Given the description of an element on the screen output the (x, y) to click on. 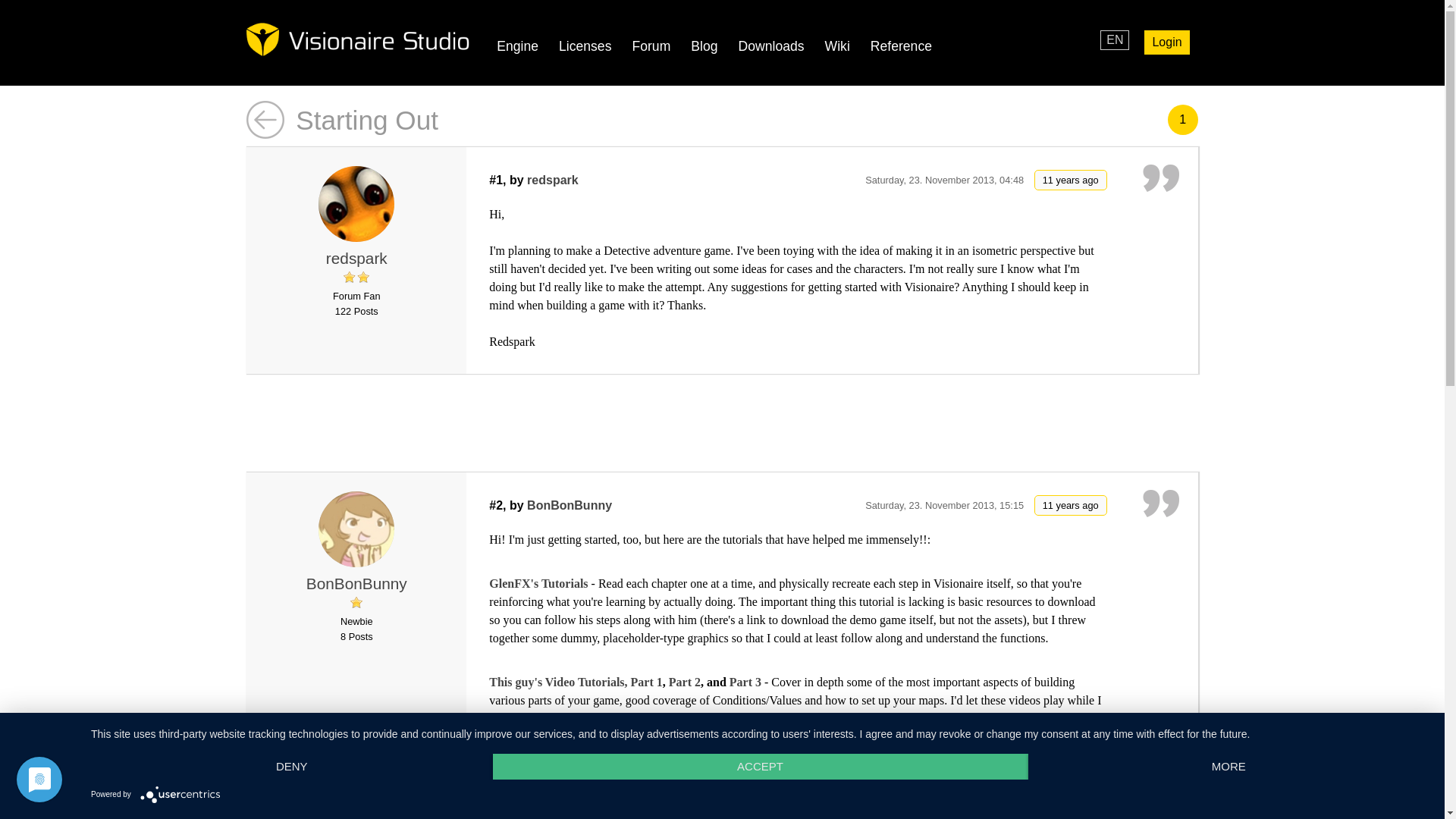
redspark (356, 257)
Login (1166, 42)
redspark (356, 257)
Wiki (837, 46)
Part 2 (684, 682)
The old one (555, 762)
Reference (900, 46)
Login (1166, 42)
Forum (650, 46)
Visionaire Studio (357, 39)
